Given the description of an element on the screen output the (x, y) to click on. 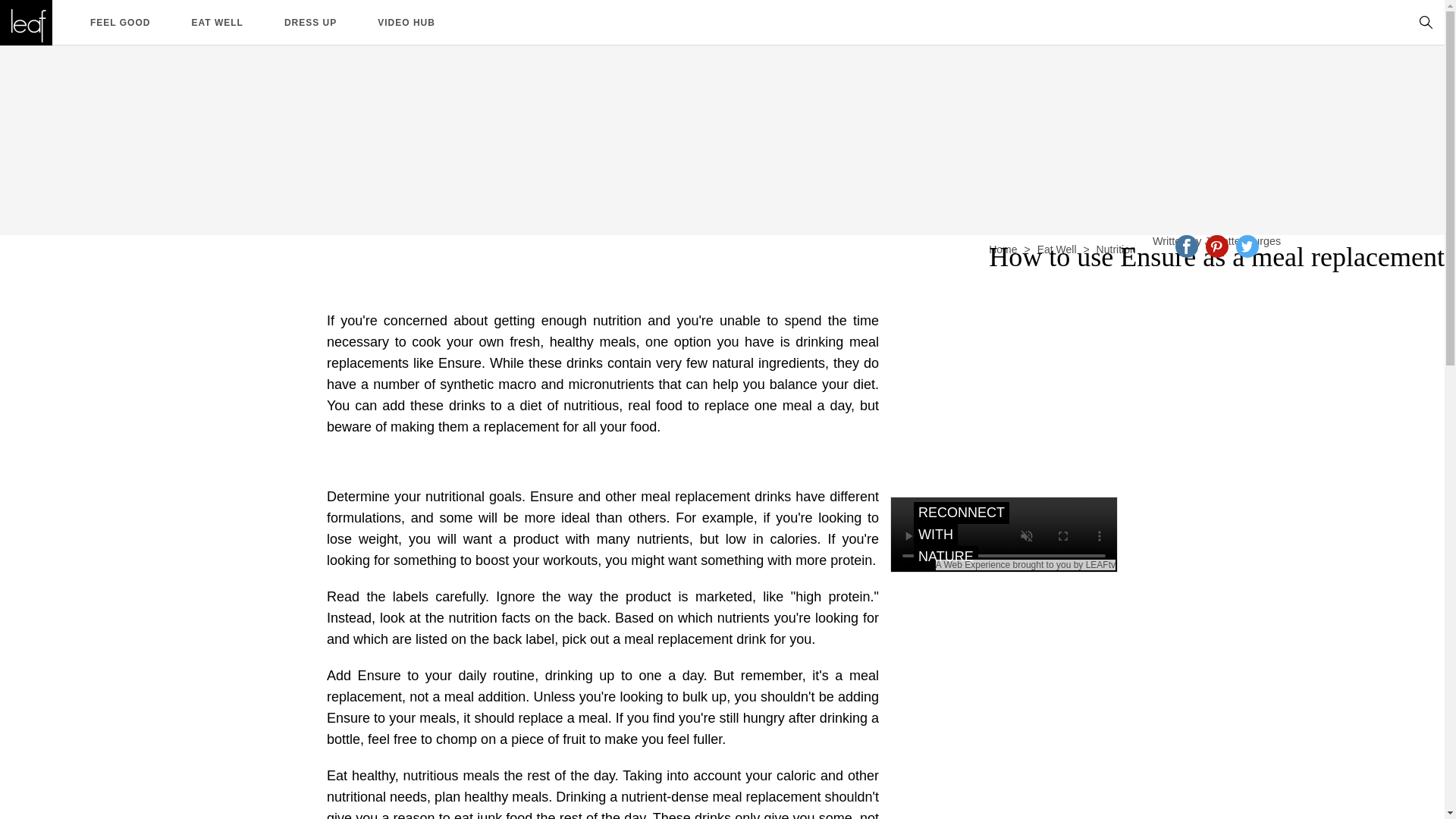
FEEL GOOD (119, 21)
EAT WELL (216, 21)
VIDEO HUB (406, 21)
DRESS UP (309, 21)
